Given the description of an element on the screen output the (x, y) to click on. 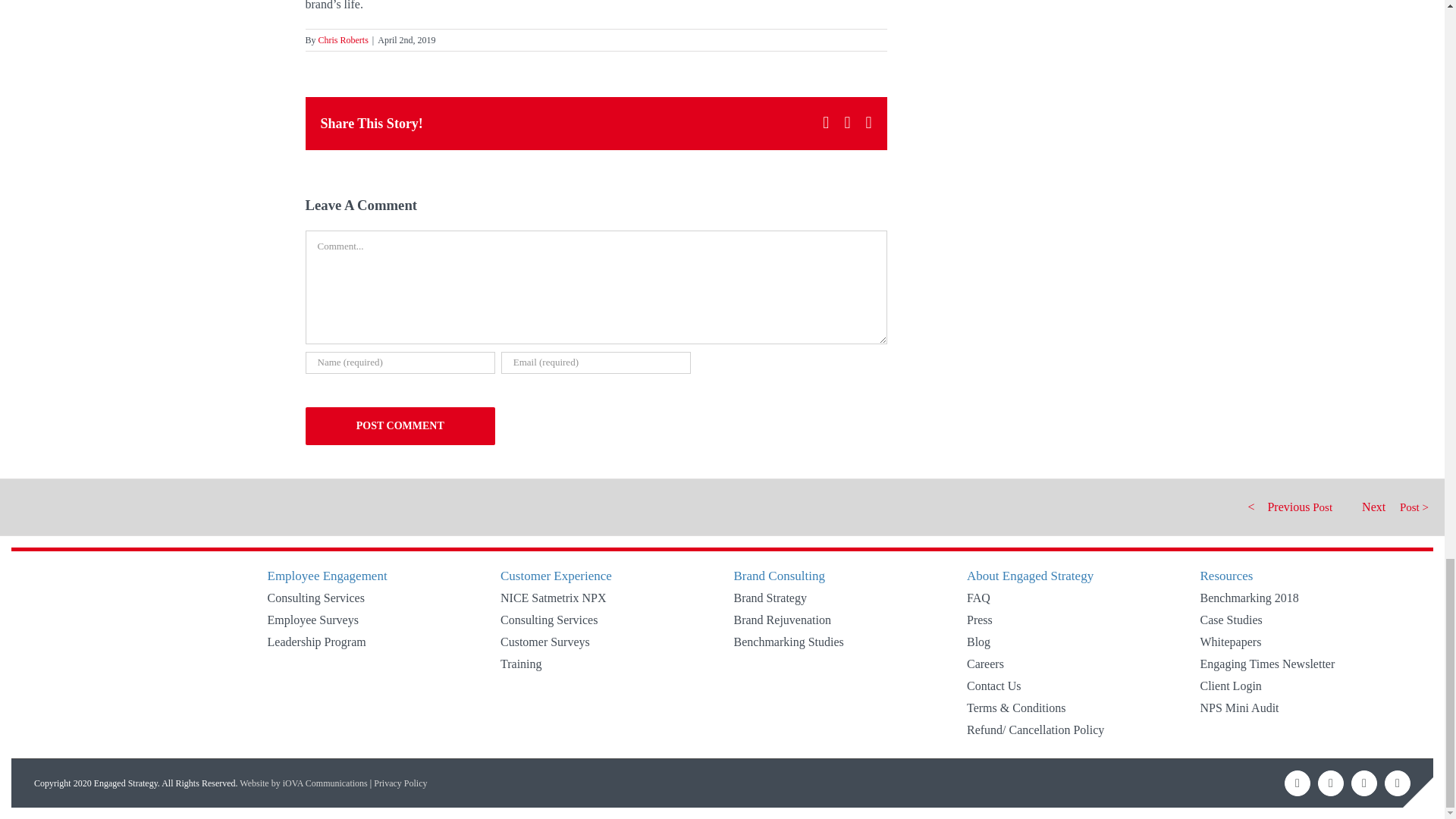
Post Comment (399, 426)
Posts by Chris Roberts (343, 40)
LinkedIn (1364, 783)
Twitter (1330, 783)
YouTube (1397, 783)
Facebook (1297, 783)
